Given the description of an element on the screen output the (x, y) to click on. 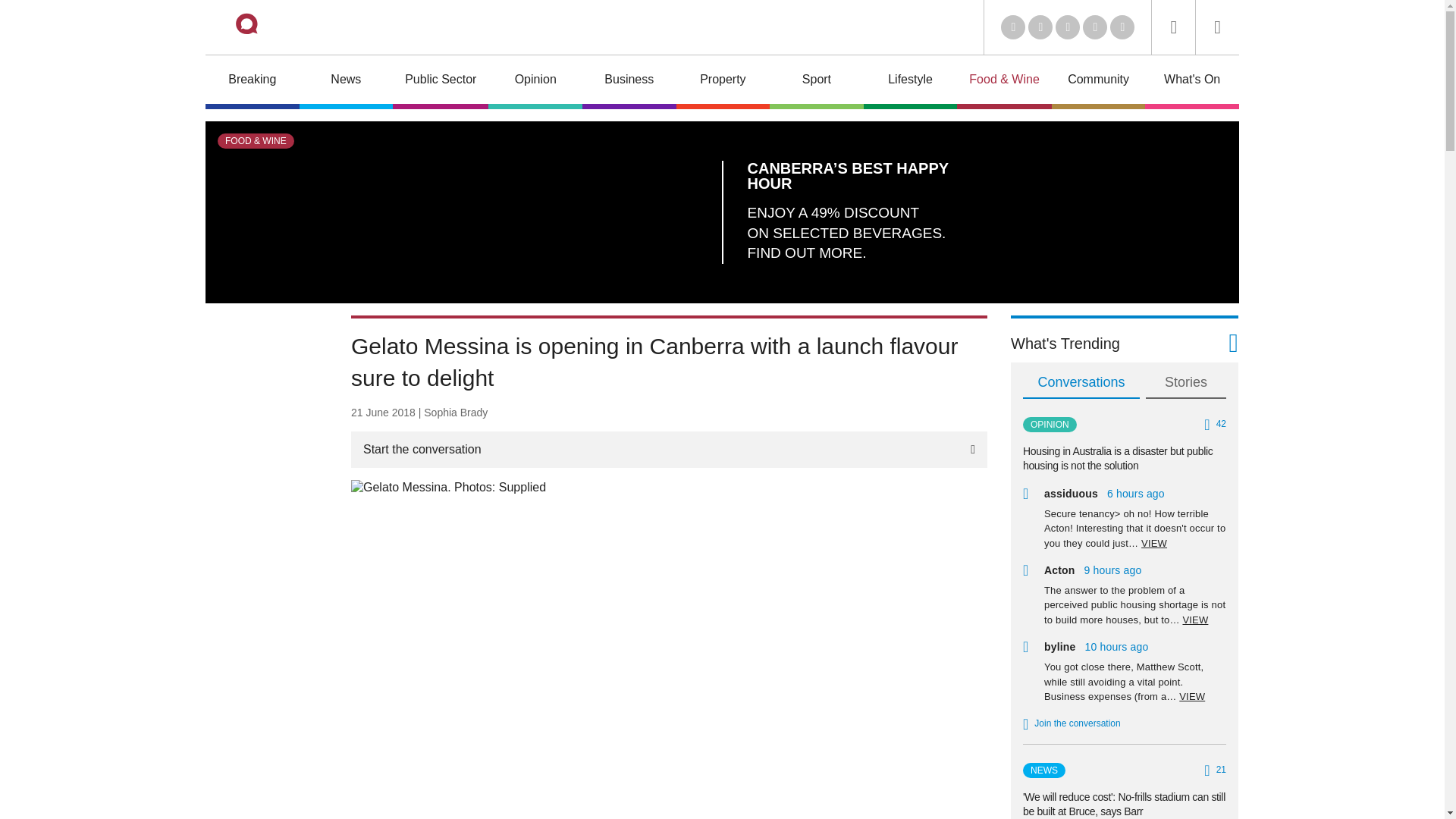
Riotact Home (267, 26)
Breaking (252, 81)
Youtube (1067, 27)
News (346, 81)
LinkedIn (1013, 27)
Twitter (1039, 27)
Facebook (1094, 27)
Instagram (1121, 27)
